Given the description of an element on the screen output the (x, y) to click on. 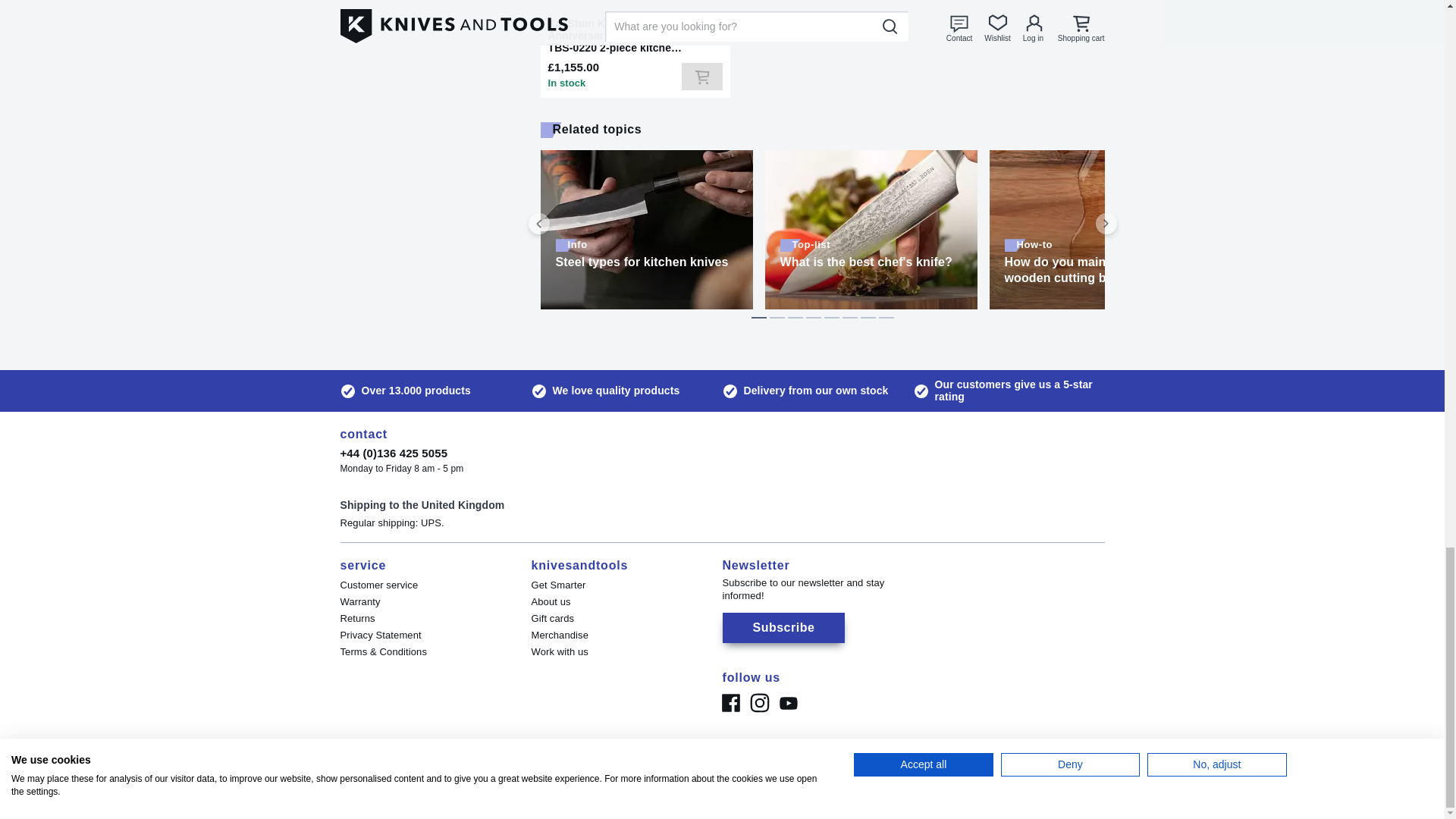
Facebook (730, 702)
Youtube (787, 702)
Instagram (758, 702)
